Given the description of an element on the screen output the (x, y) to click on. 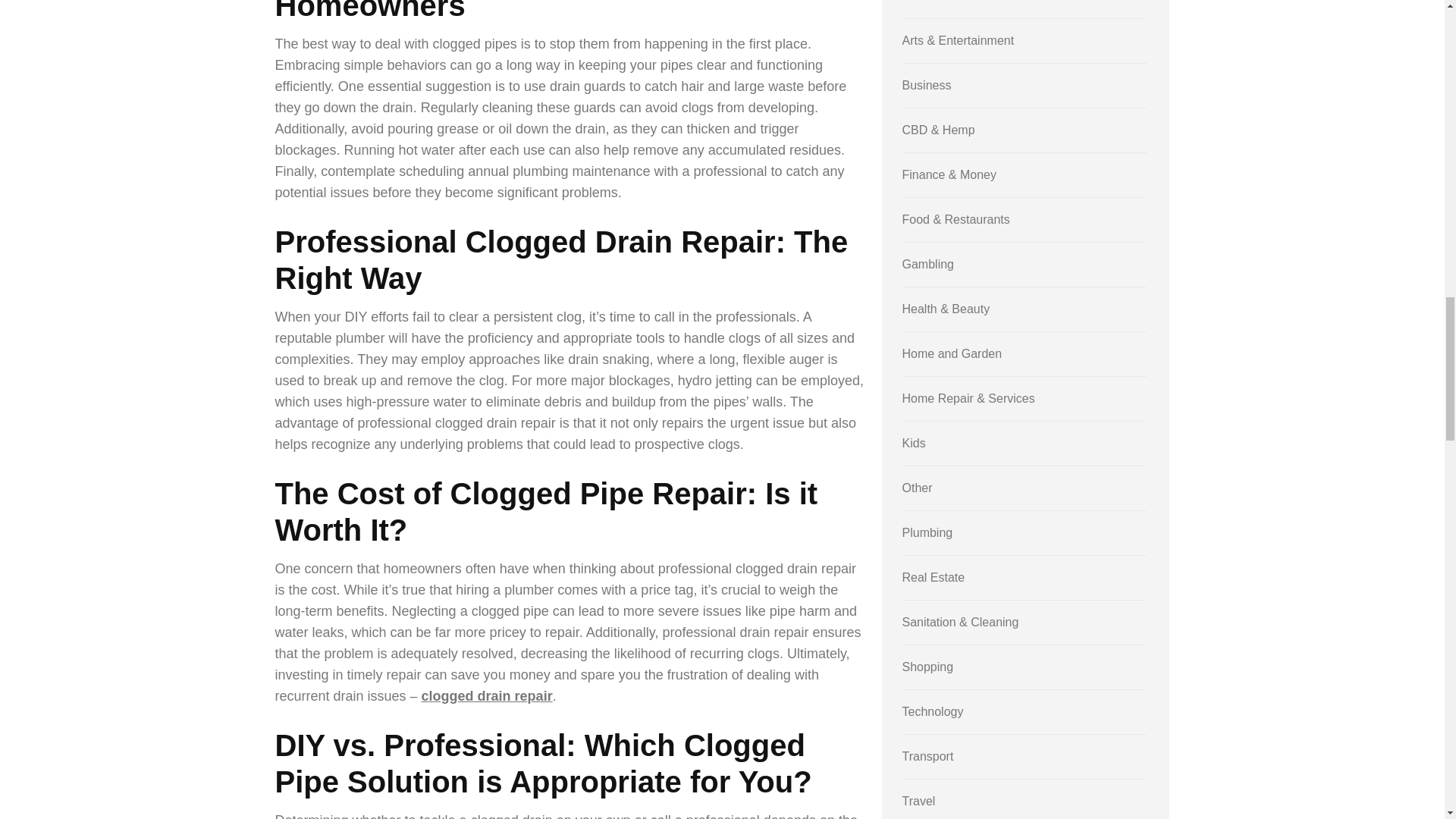
clogged drain repair (487, 695)
